Given the description of an element on the screen output the (x, y) to click on. 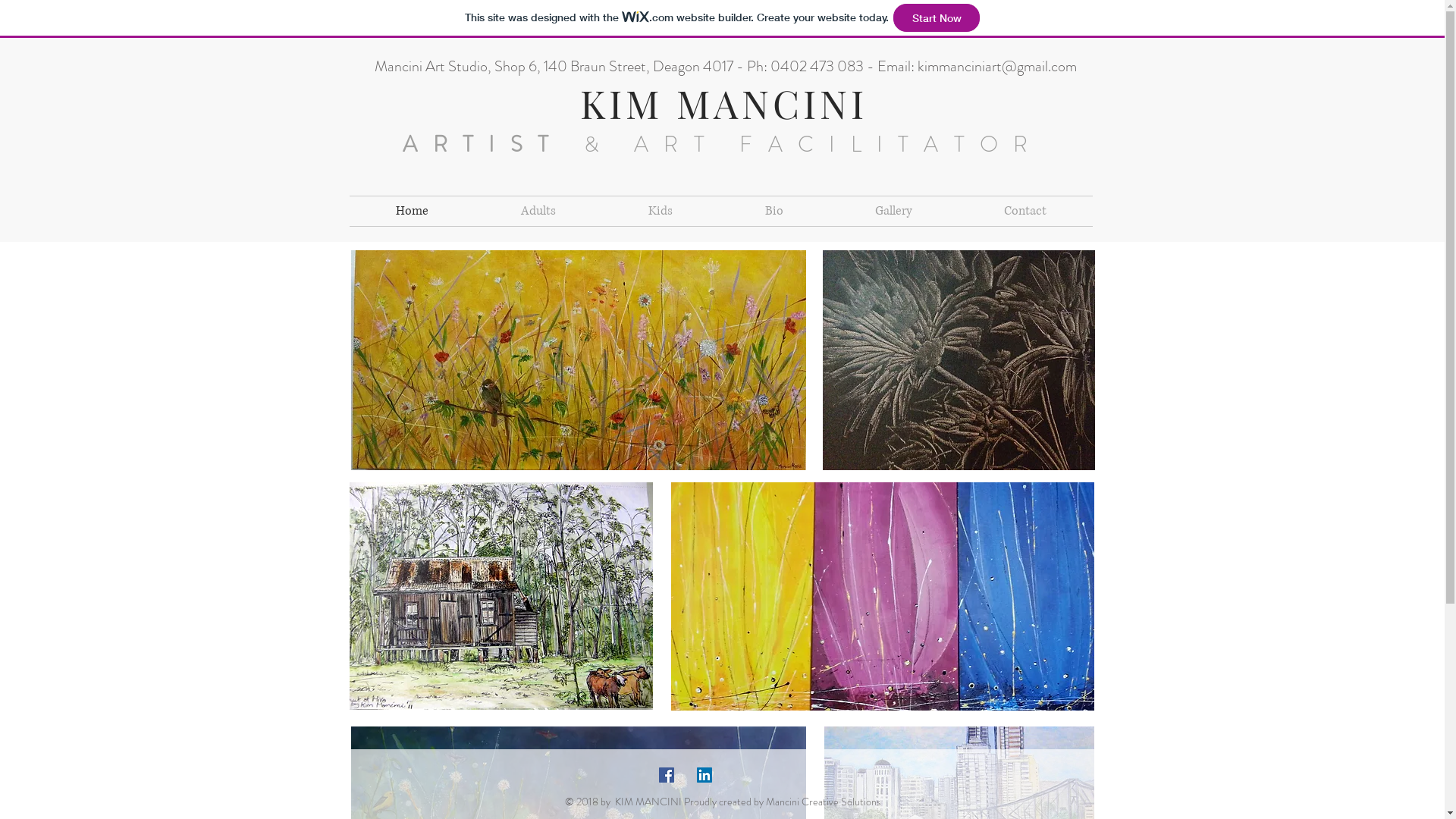
Adults Element type: text (538, 210)
ARTIST & ART FACILITATOR Element type: text (722, 144)
immanciniart@gmail.com Element type: text (999, 66)
Home Element type: text (410, 210)
Gallery Element type: text (893, 210)
0402 473 083 -  Element type: text (823, 66)
Bio Element type: text (773, 210)
Contact Element type: text (1025, 210)
Kids Element type: text (660, 210)
